Given the description of an element on the screen output the (x, y) to click on. 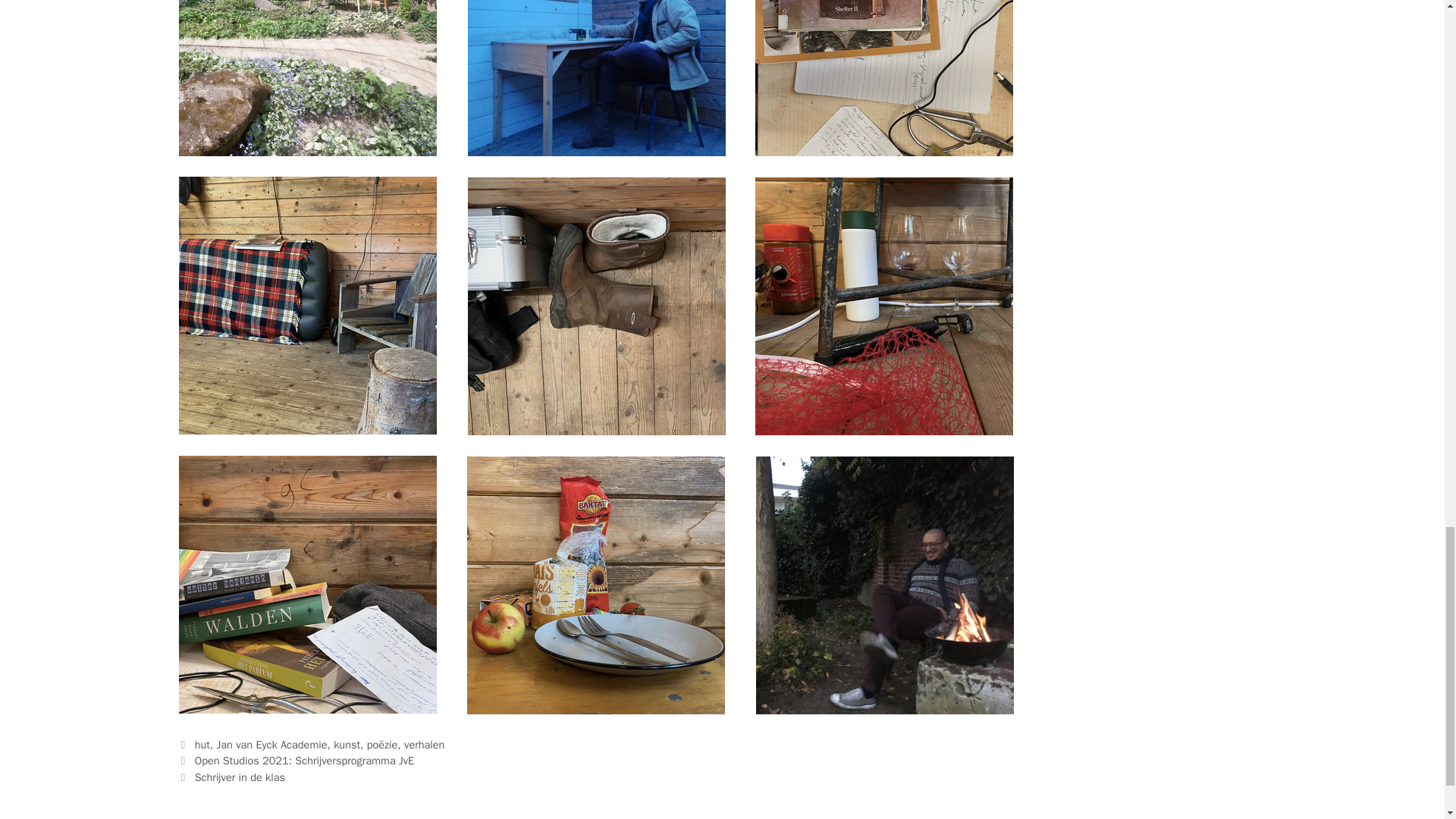
hut (202, 744)
kunst (346, 744)
verhalen (424, 744)
Schrijver in de klas (240, 776)
Jan van Eyck Academie (271, 744)
Open Studios 2021: Schrijversprogramma JvE (304, 760)
